Given the description of an element on the screen output the (x, y) to click on. 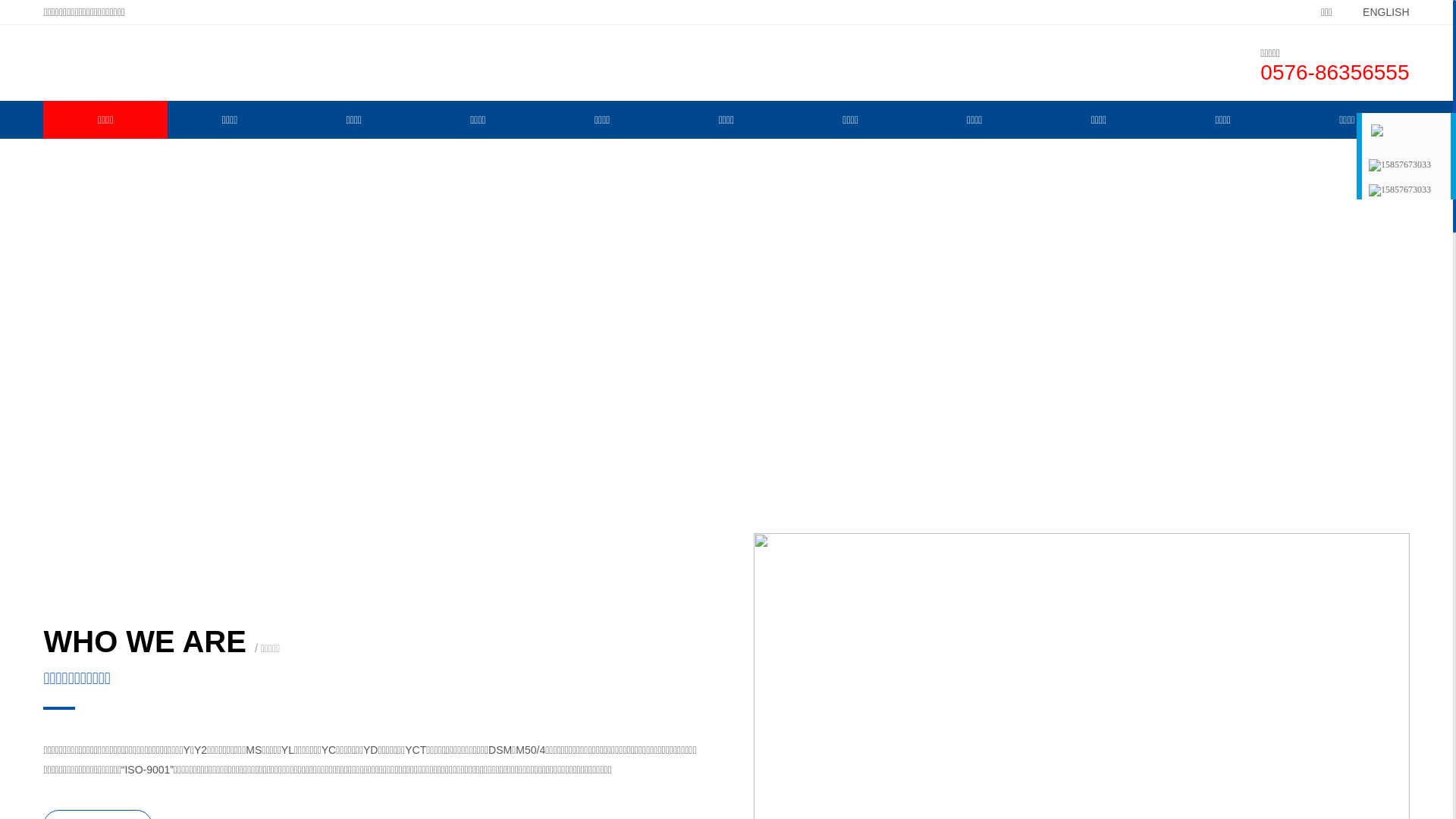
ENGLISH Element type: text (1373, 12)
